Given the description of an element on the screen output the (x, y) to click on. 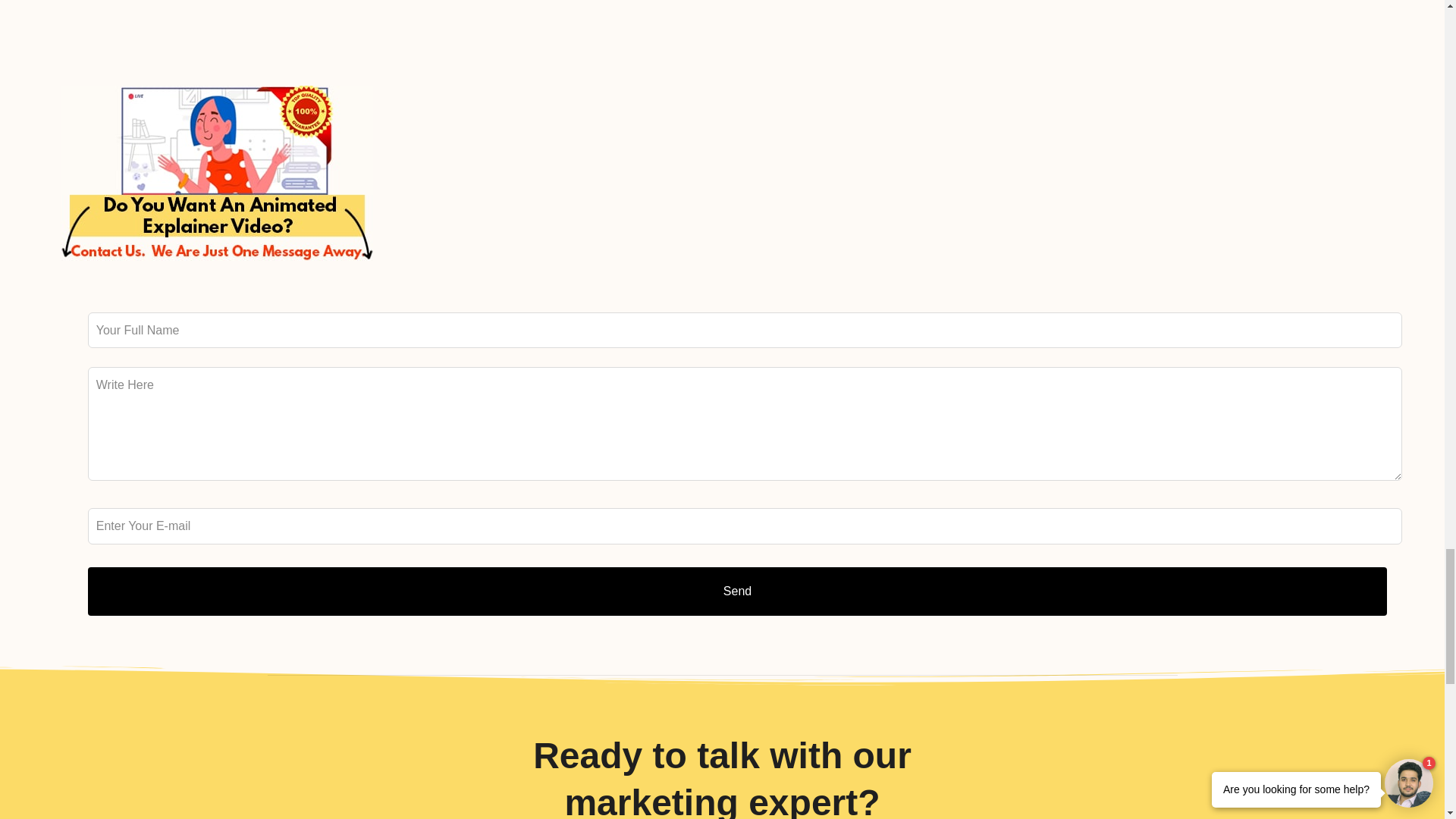
Send (737, 591)
